Given the description of an element on the screen output the (x, y) to click on. 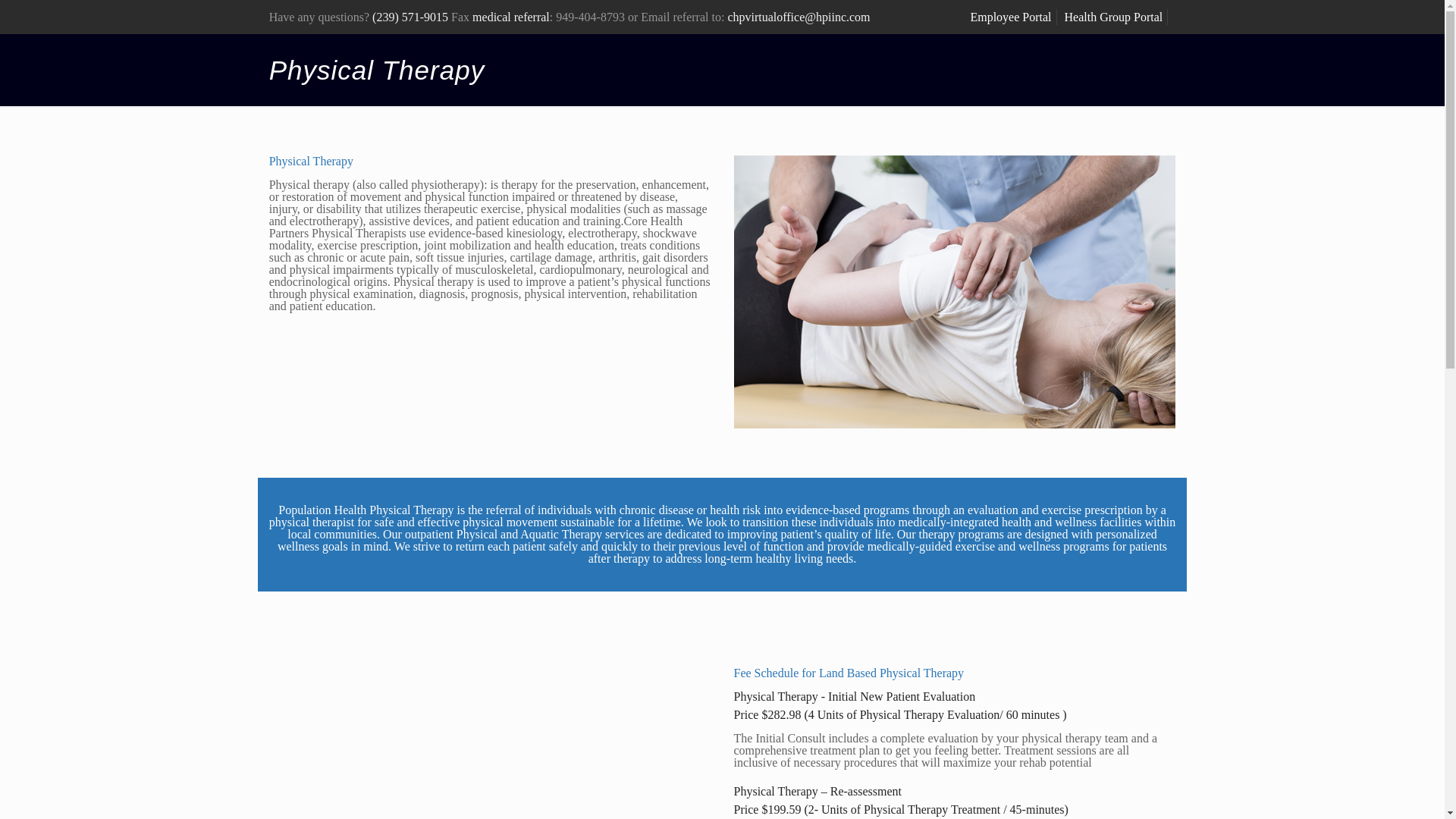
Employee Portal (1010, 16)
physiotherapy (953, 291)
medical referral (510, 16)
Health Group Portal (1113, 16)
